Given the description of an element on the screen output the (x, y) to click on. 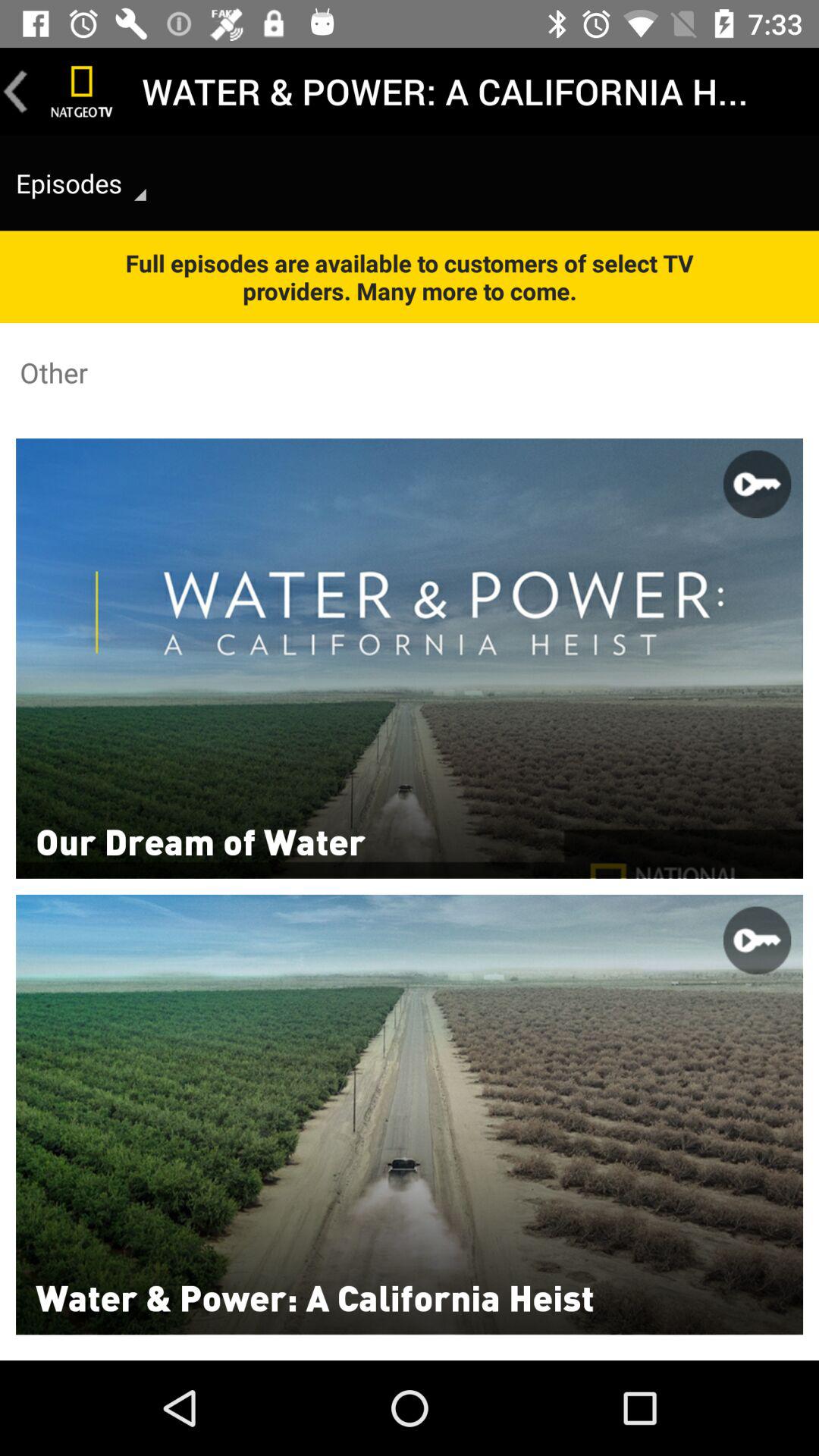
scroll until the our dream of item (200, 840)
